Given the description of an element on the screen output the (x, y) to click on. 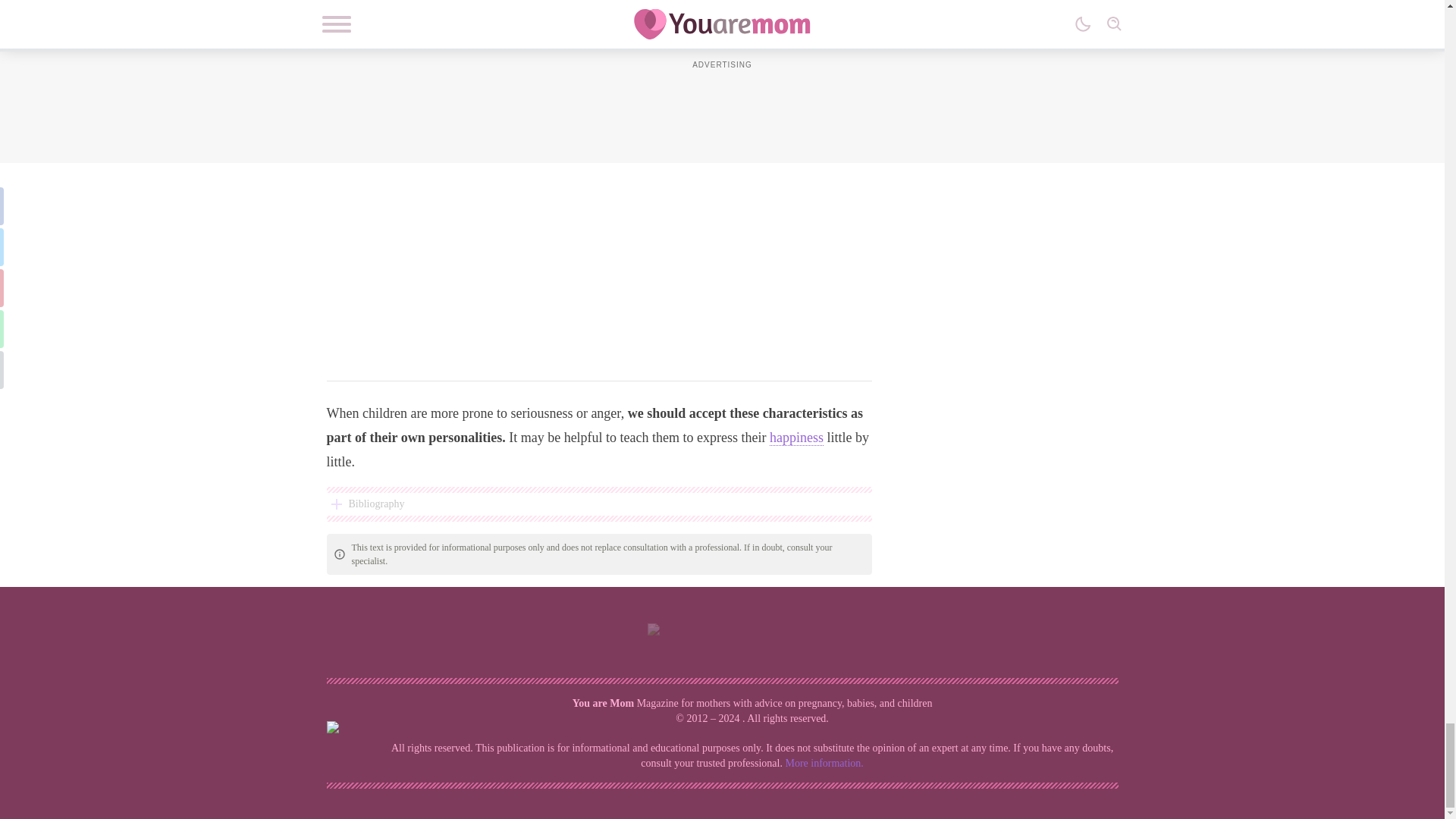
Bibliography (598, 504)
More information. (823, 763)
happiness (797, 437)
